Given the description of an element on the screen output the (x, y) to click on. 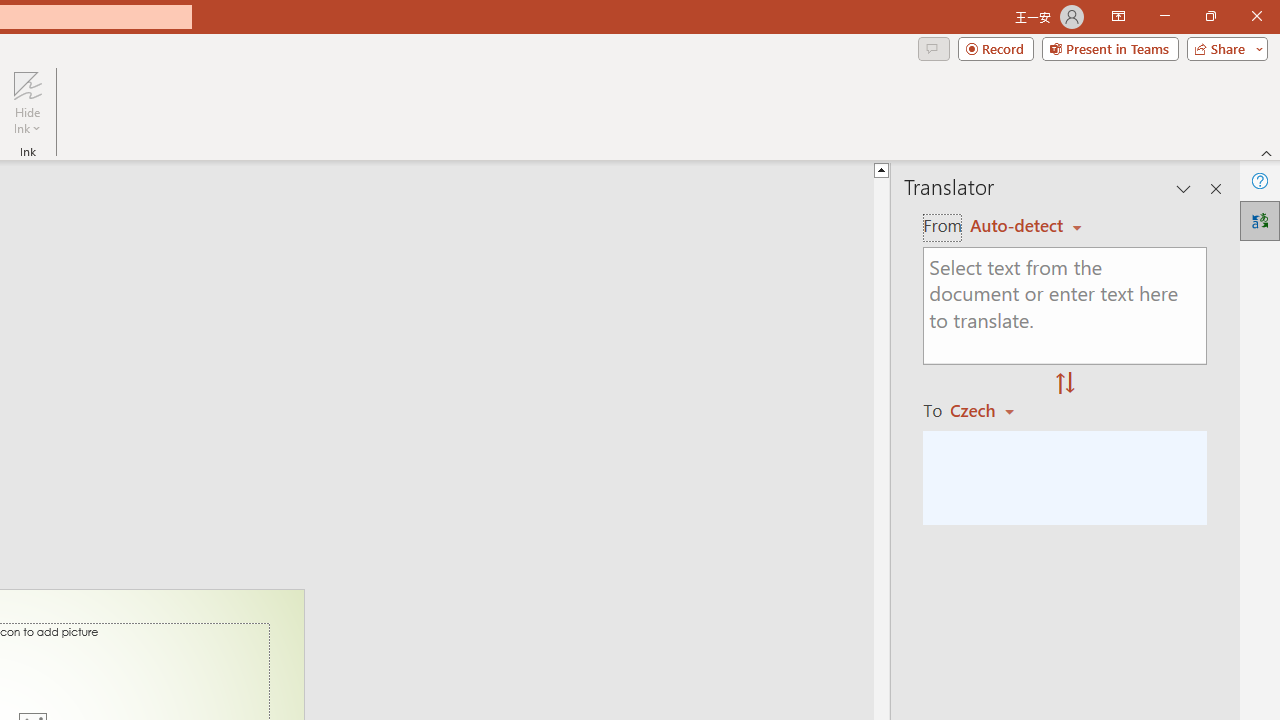
Swap "from" and "to" languages. (1065, 383)
Hide Ink (27, 84)
